Given the description of an element on the screen output the (x, y) to click on. 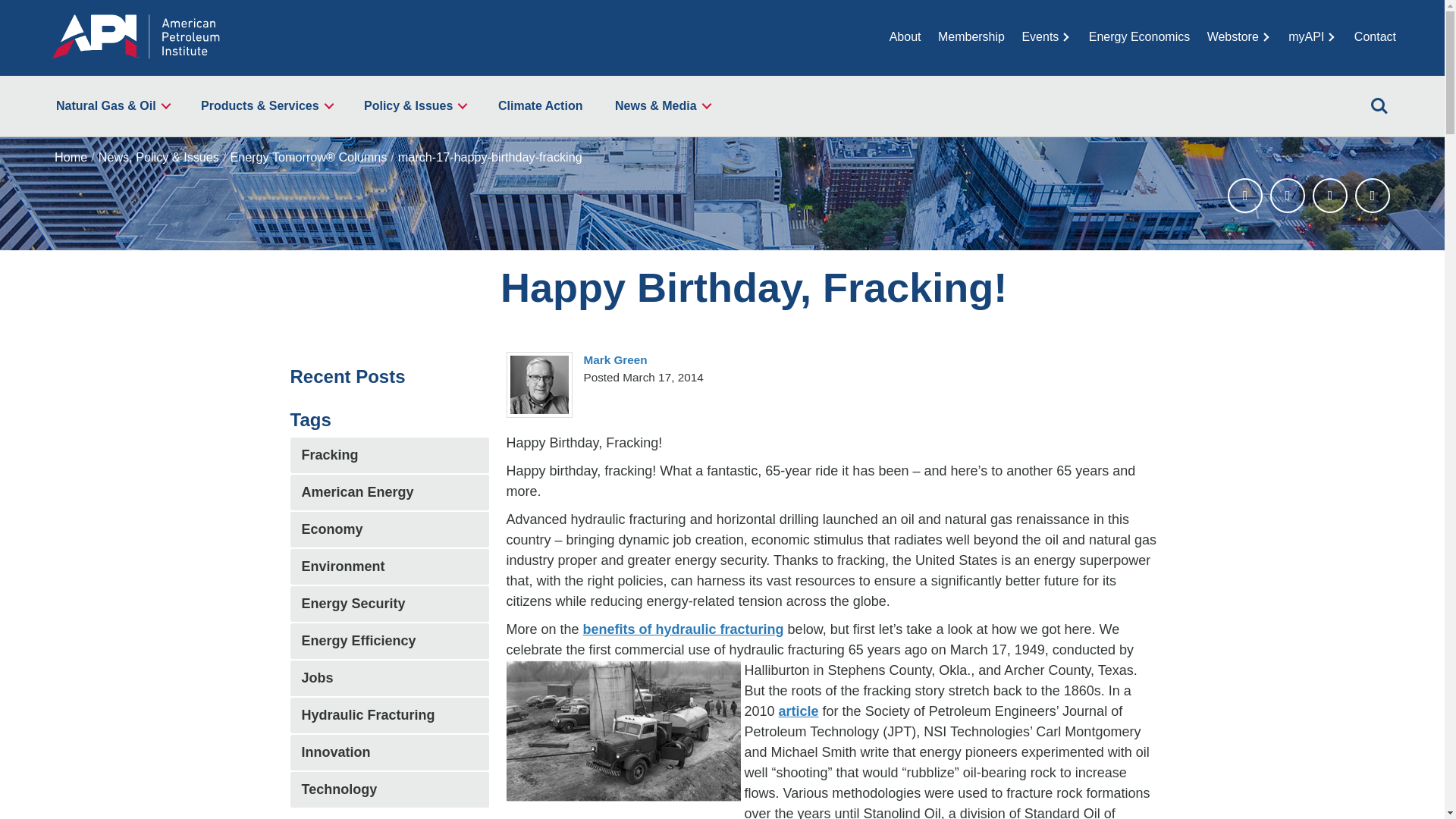
Membership (970, 36)
Energy Economics (1139, 36)
Webstore (1239, 36)
Events (1046, 36)
myAPI (1312, 36)
Contact (1375, 36)
About (905, 36)
